Given the description of an element on the screen output the (x, y) to click on. 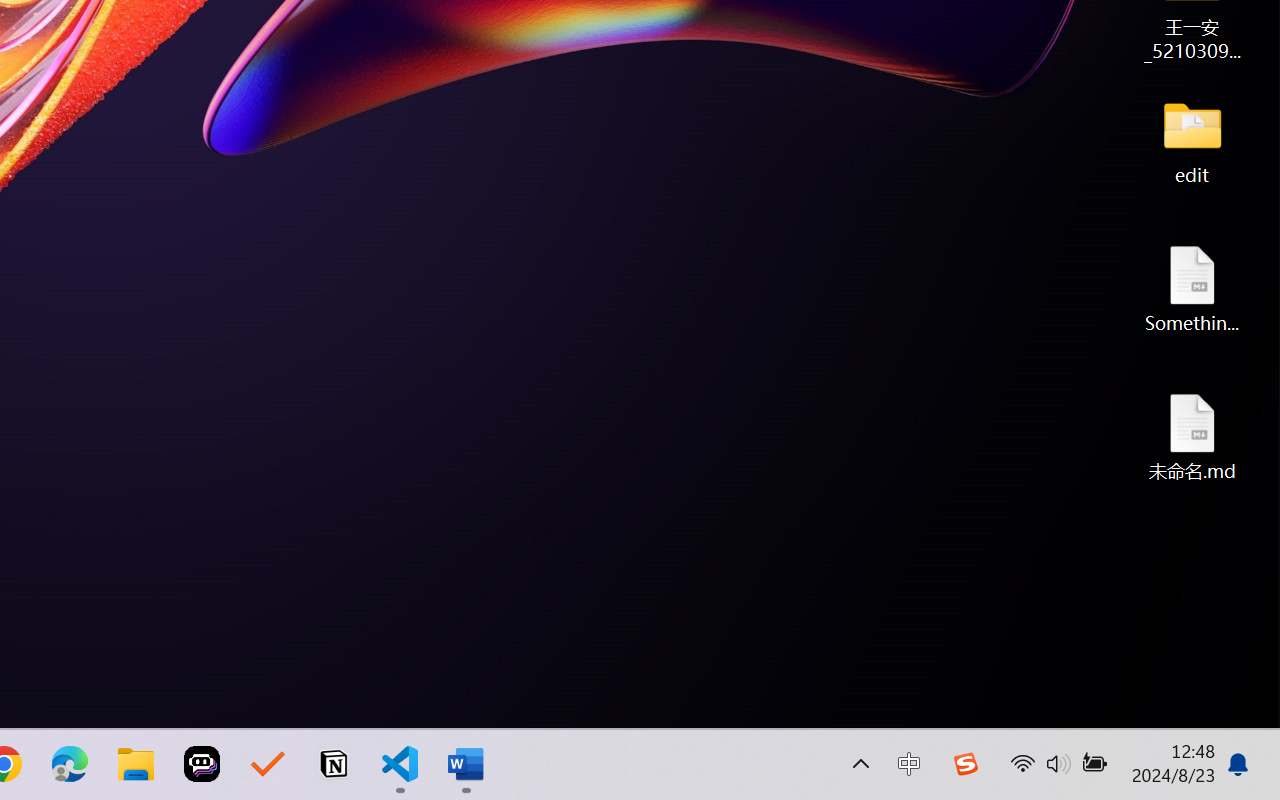
edit (1192, 140)
Something.md (1192, 288)
Microsoft Edge (69, 764)
